Given the description of an element on the screen output the (x, y) to click on. 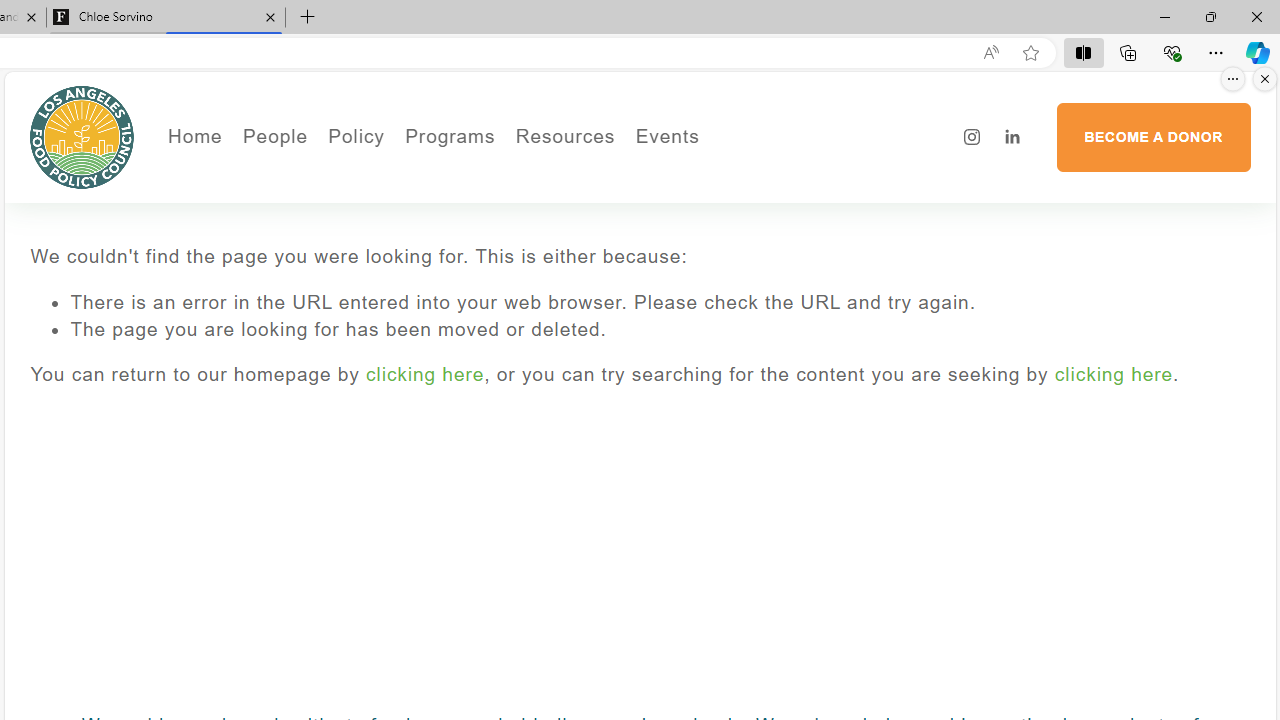
Events (734, 176)
Los Angeles Food Policy Council (81, 136)
Resources (564, 136)
Press (341, 232)
Good Food Zones (643, 176)
The page you are looking for has been moved or deleted. (660, 330)
Chloe Sorvino (166, 17)
Healthy Markets LA (504, 176)
